Given the description of an element on the screen output the (x, y) to click on. 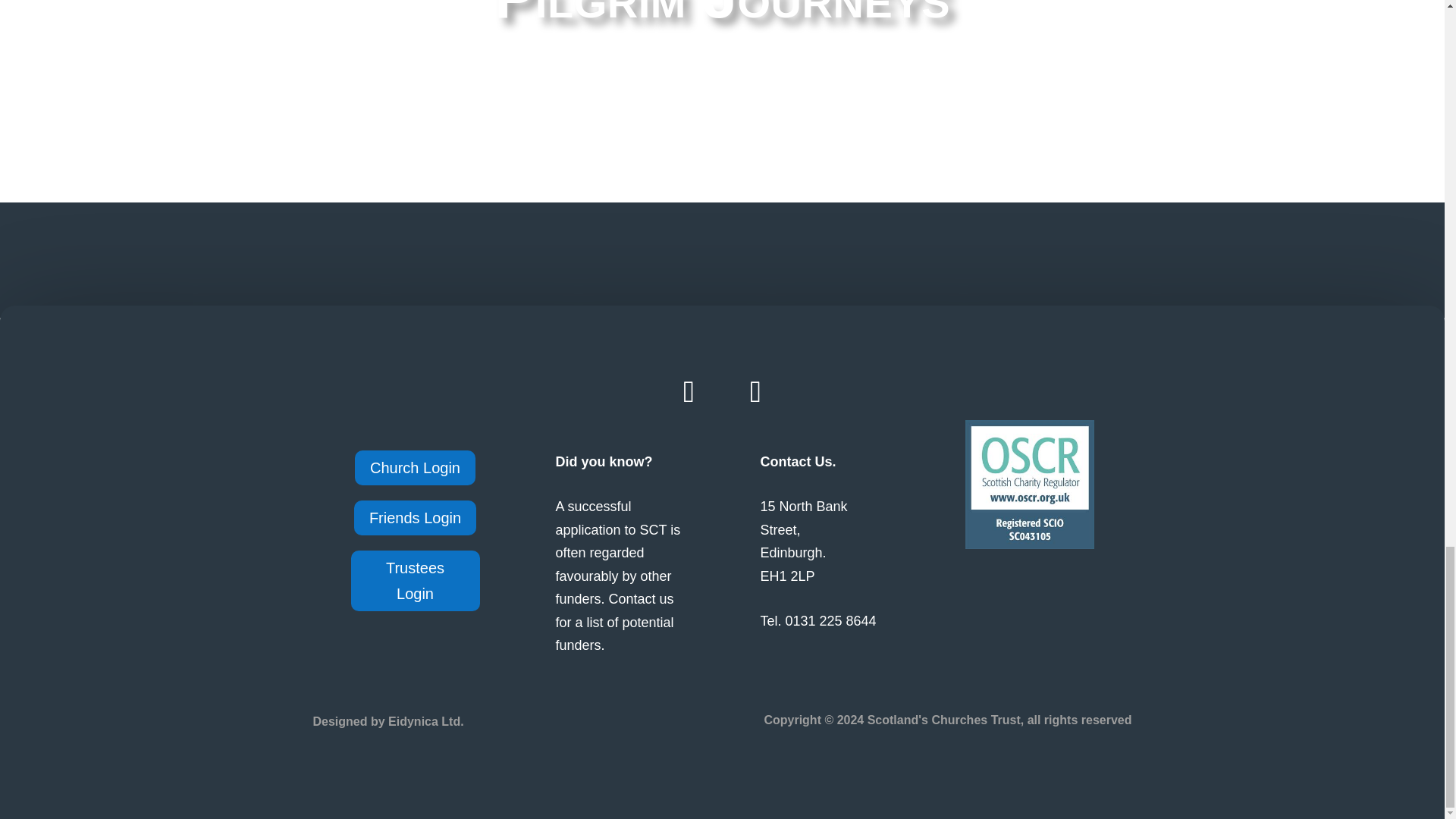
Follow on Twitter (755, 391)
Follow on Facebook (688, 391)
small-blue (1028, 484)
